Given the description of an element on the screen output the (x, y) to click on. 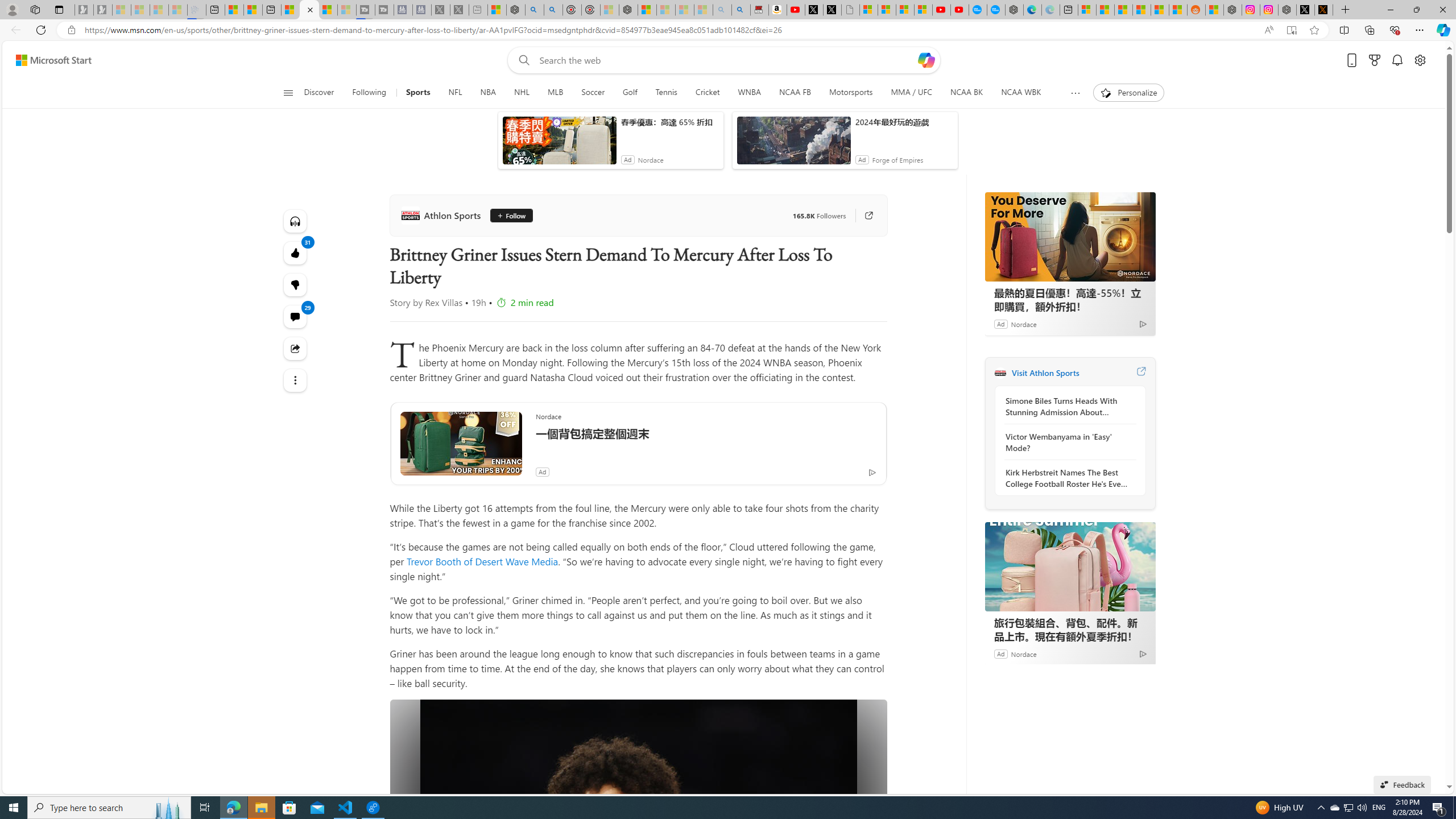
Sports (418, 92)
Microsoft Start (328, 9)
Enter Immersive Reader (F9) (1291, 29)
Personalize (1128, 92)
Web search (520, 60)
NCAA BK (966, 92)
Microsoft account | Microsoft Account Privacy Settings (1086, 9)
NCAA WBK (1021, 92)
See more (295, 380)
NCAA WBK (1020, 92)
Untitled (850, 9)
Dislike (295, 284)
